Given the description of an element on the screen output the (x, y) to click on. 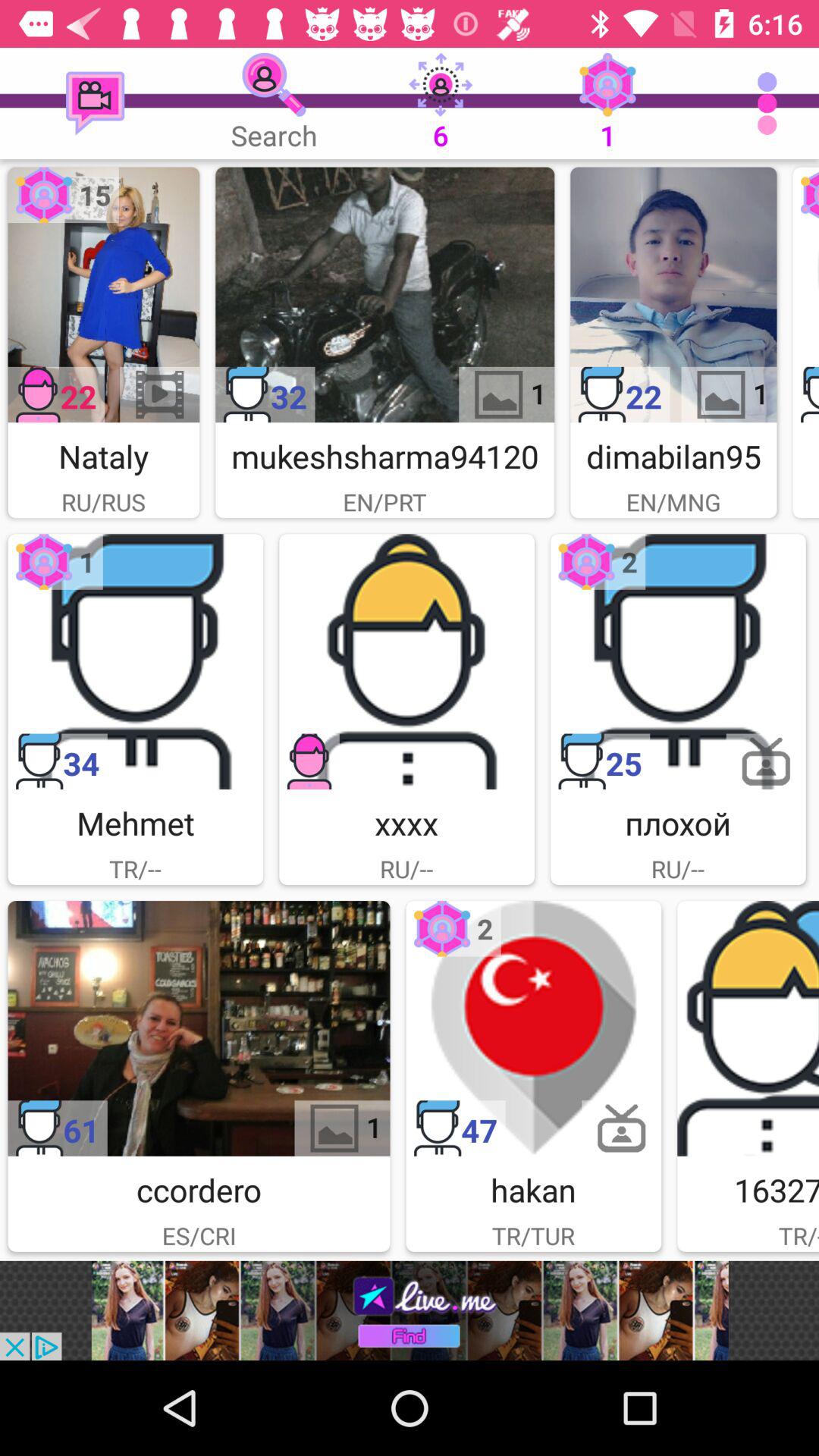
show user profile (384, 294)
